Given the description of an element on the screen output the (x, y) to click on. 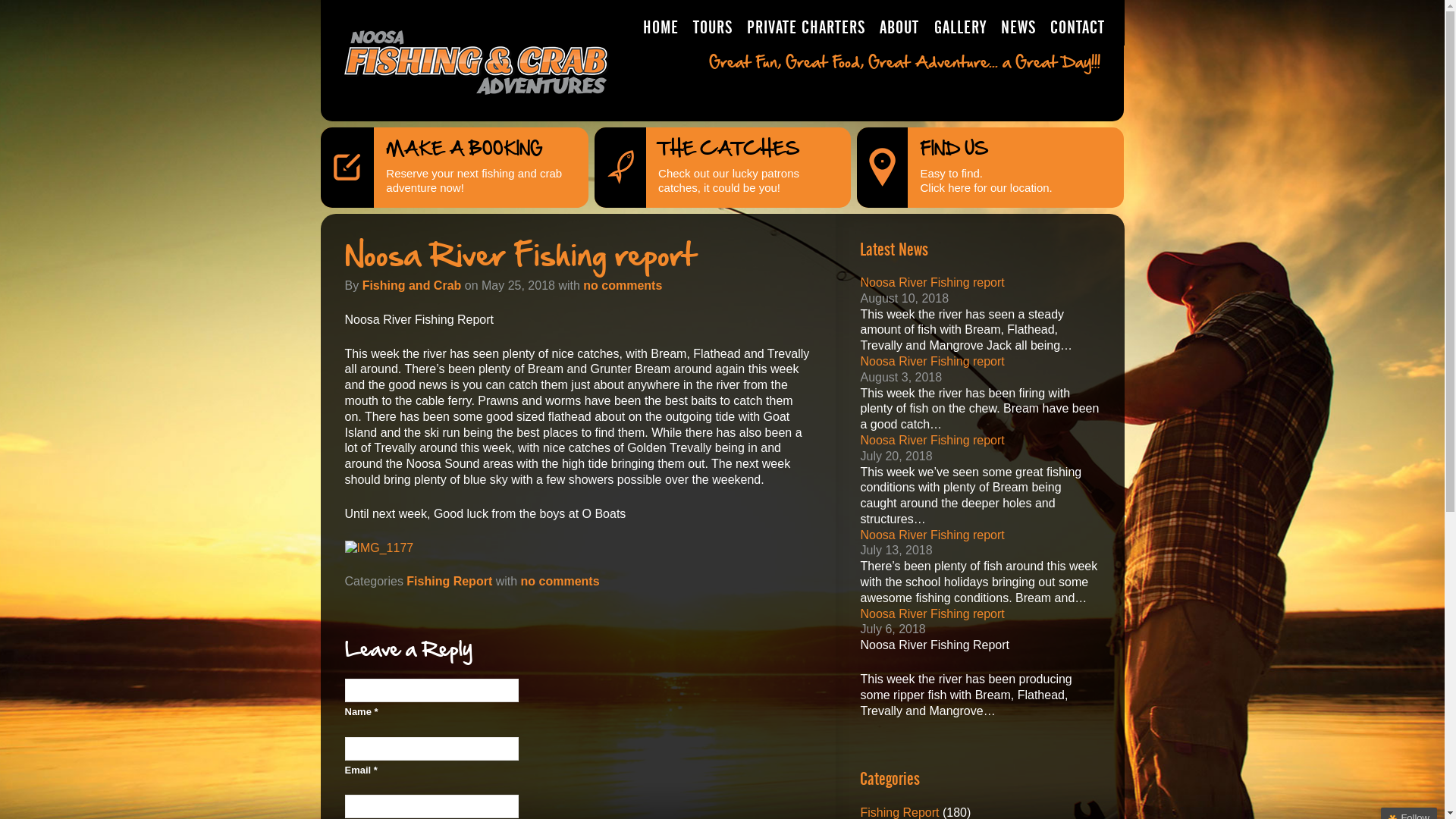
ABOUT Element type: text (899, 22)
CONTACT Element type: text (1076, 22)
Fishing Report Element type: text (449, 580)
NEWS Element type: text (1017, 22)
Noosa River Fishing report Element type: text (931, 282)
PRIVATE CHARTERS Element type: text (806, 22)
FIND US Element type: text (953, 148)
GALLERY Element type: text (959, 22)
Fishing and Crab Element type: text (411, 285)
HOME Element type: text (660, 22)
THE CATCHES Element type: text (729, 148)
Noosa River Fishing report Element type: text (931, 534)
Noosa River Fishing report Element type: text (931, 360)
MAKE A BOOKING Element type: text (463, 148)
Noosa River Fishing report Element type: text (931, 439)
no comments Element type: text (559, 580)
no comments Element type: text (622, 285)
TOURS Element type: text (712, 22)
Noosa River Fishing report Element type: text (931, 613)
